Given the description of an element on the screen output the (x, y) to click on. 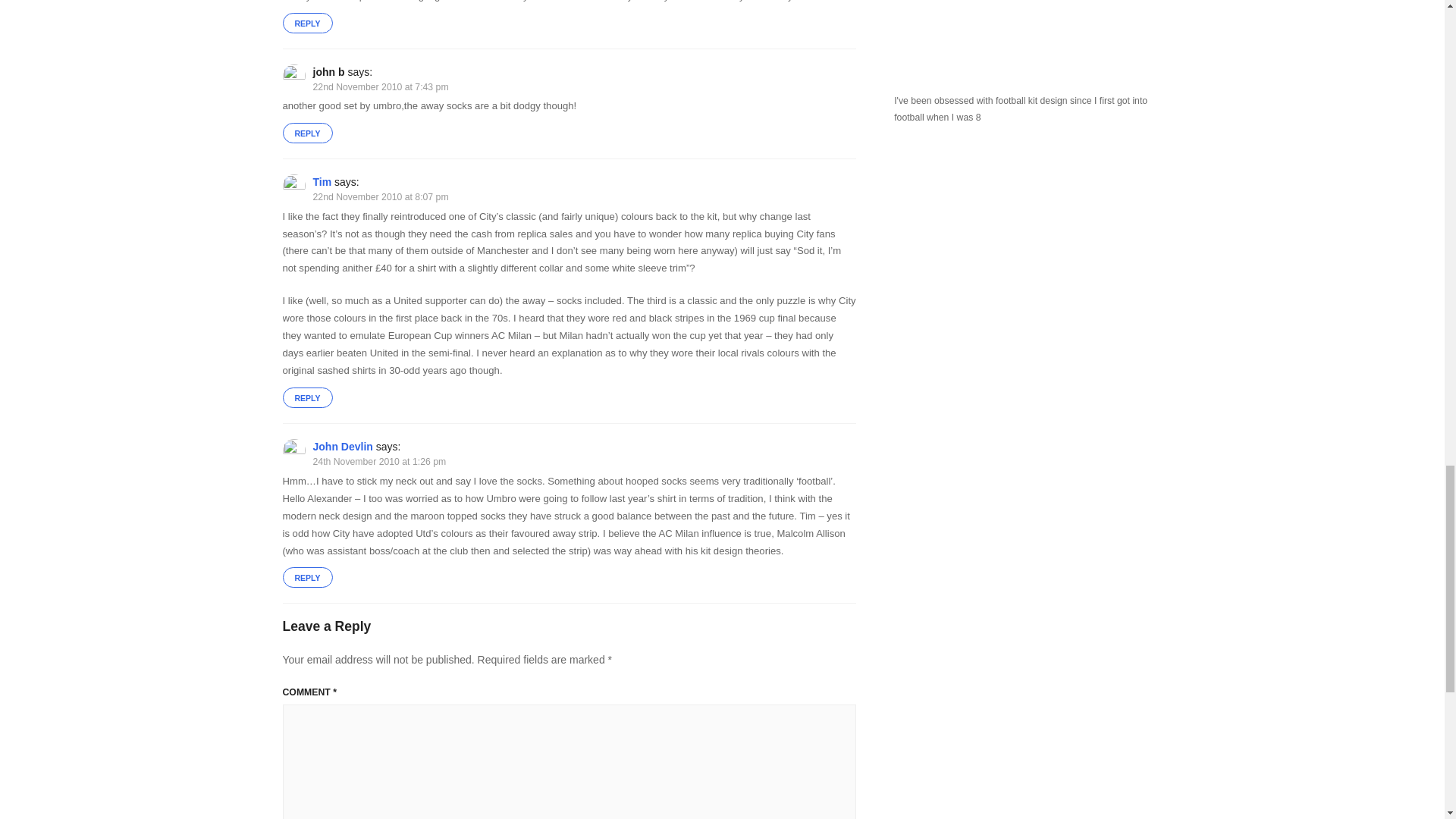
22nd November 2010 at 7:43 pm (380, 86)
REPLY (306, 23)
